Given the description of an element on the screen output the (x, y) to click on. 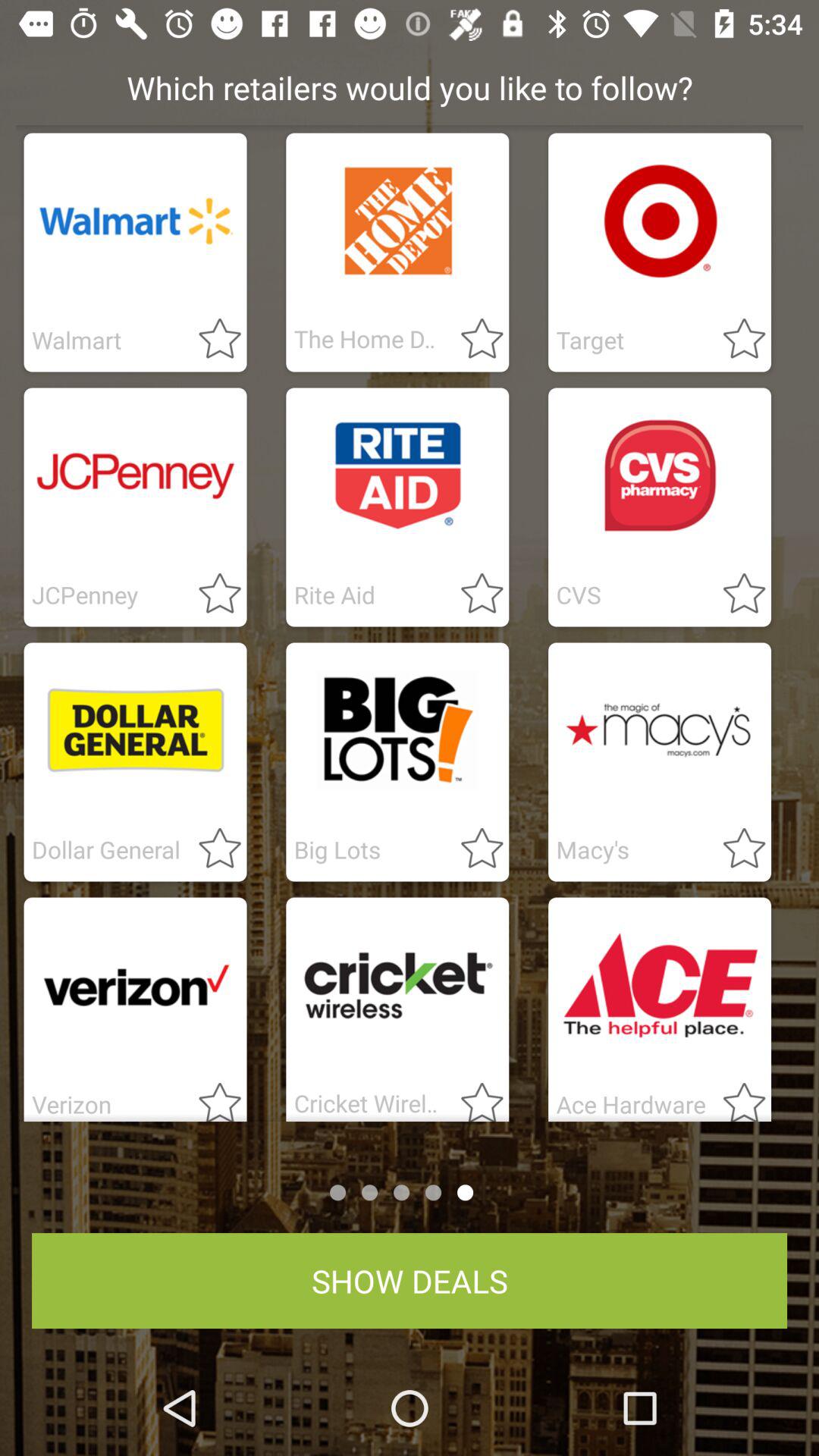
save it as star marked (735, 849)
